Given the description of an element on the screen output the (x, y) to click on. 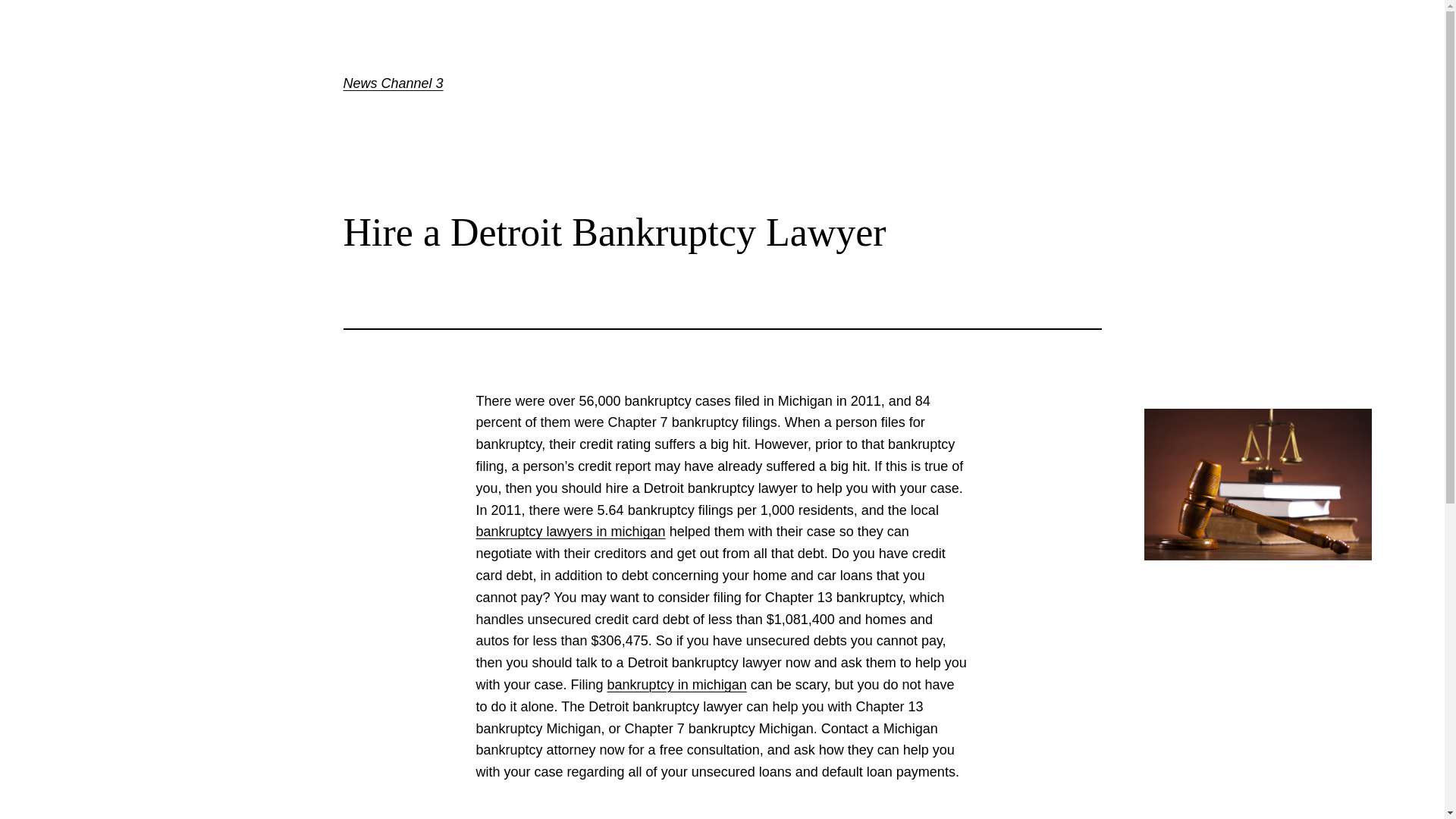
bankruptcy lawyers in michigan (570, 531)
Chapter 7 bankruptcy in michigan, Flint bankruptcy attorney (676, 684)
bankruptcy in michigan (676, 684)
News Channel 3 (392, 83)
Detroit bankruptcy, Flint bankruptcy (570, 531)
